Given the description of an element on the screen output the (x, y) to click on. 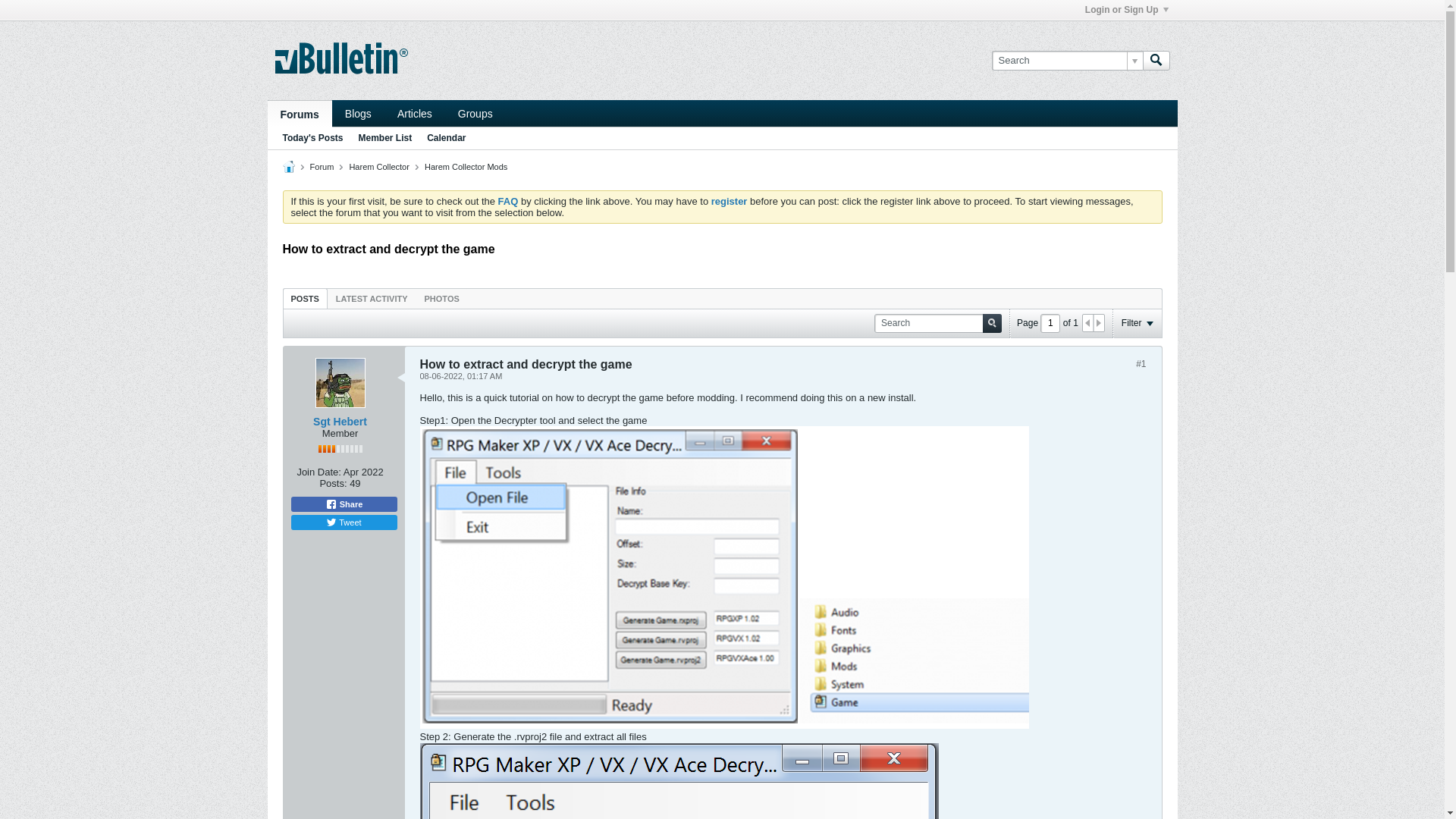
Today's Posts Element type: text (312, 138)
Share Element type: text (344, 503)
FAQ Element type: text (508, 201)
Member List Element type: text (384, 138)
Search Element type: hover (1155, 59)
Harem Collector Element type: text (378, 166)
Articles Element type: text (414, 113)
Tweet Element type: text (344, 522)
Forum Element type: text (322, 166)
LATEST ACTIVITY Element type: text (371, 298)
PHOTOS Element type: text (442, 298)
Calendar Element type: text (445, 138)
Sgt Hebert Element type: hover (339, 382)
Groups Element type: text (475, 113)
Powered by vBulletin Element type: hover (340, 58)
POSTS Element type: text (304, 298)
Harem Collector Mods Element type: text (465, 166)
Forums Element type: text (298, 113)
Search Element type: text (991, 322)
Sgt Hebert Element type: text (340, 421)
Previous Page Element type: hover (1087, 322)
Next Page Element type: hover (1098, 322)
Home Element type: hover (288, 166)
register Element type: text (729, 201)
step12.png Element type: hover (724, 577)
is a jewel in the rough Element type: hover (340, 448)
Blogs Element type: text (358, 113)
#1 Element type: text (1140, 363)
